Given the description of an element on the screen output the (x, y) to click on. 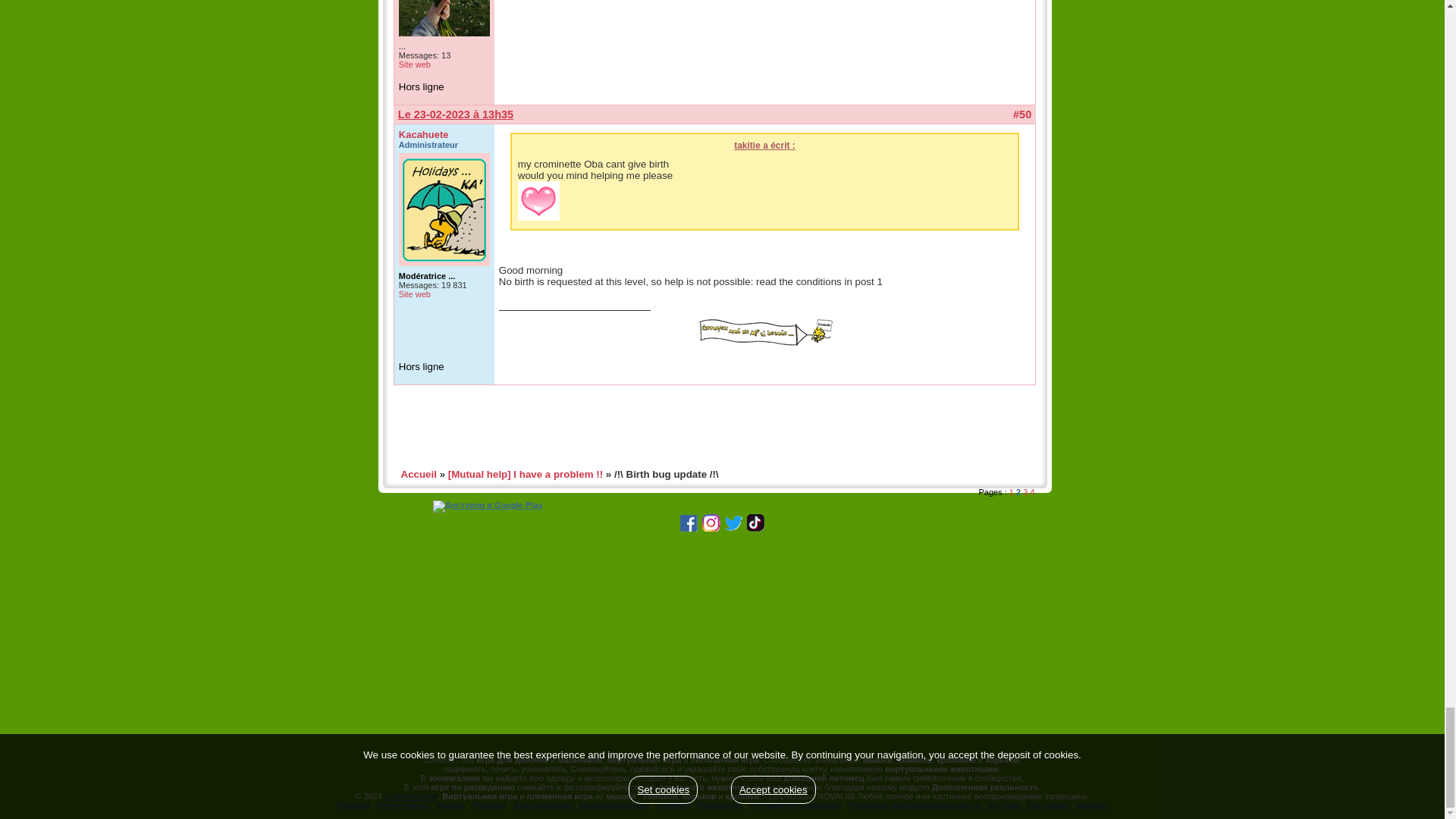
Twitter (732, 528)
Instagram (710, 528)
Goodies (673, 804)
Facebook (688, 528)
TikTok (755, 528)
